Given the description of an element on the screen output the (x, y) to click on. 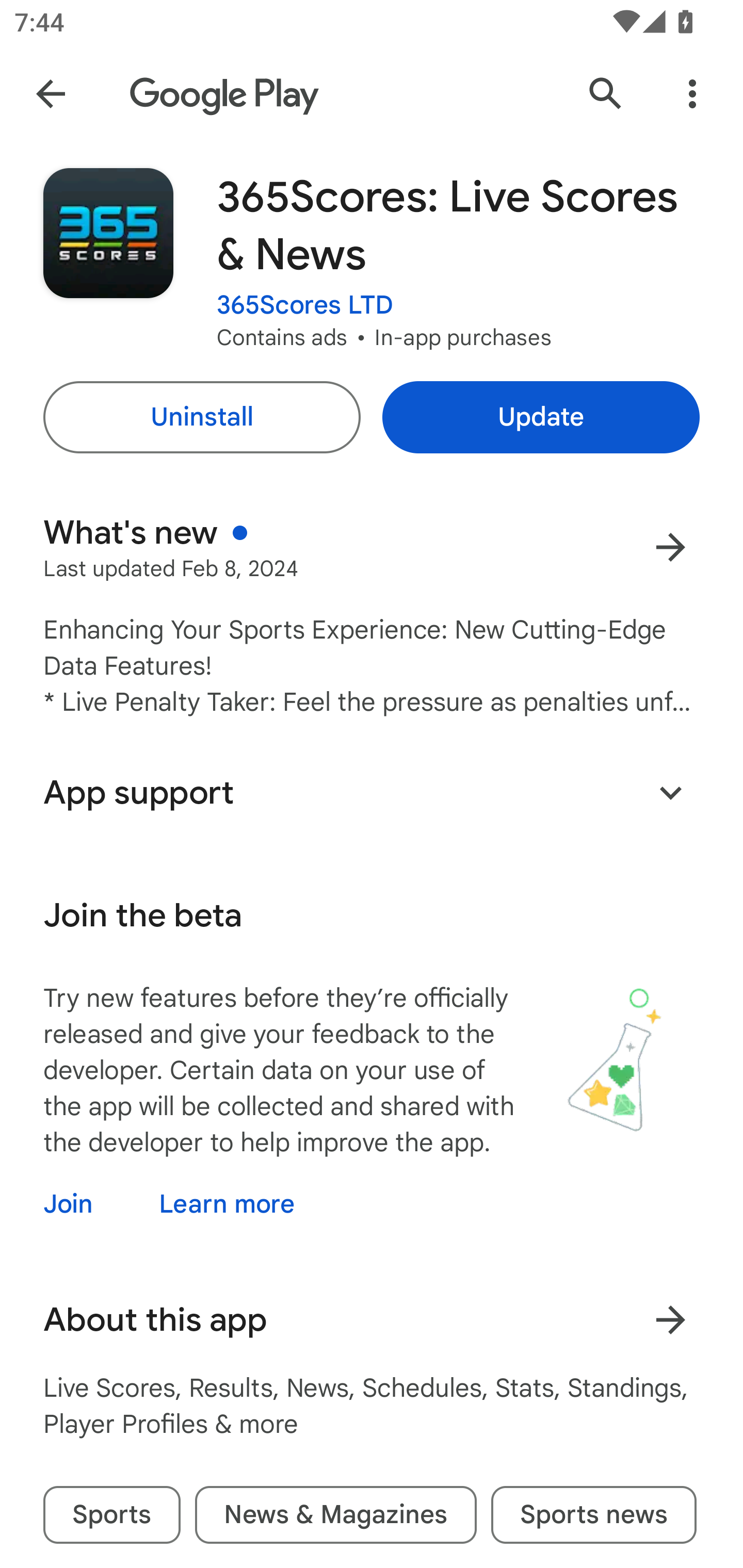
Navigate up (50, 93)
Search Google Play (605, 93)
More Options (692, 93)
365Scores LTD (304, 304)
Uninstall (201, 416)
Update (540, 416)
More results for What's new (670, 547)
App support Expand (371, 792)
Expand (670, 792)
Join (86, 1204)
Learn more (226, 1204)
About this app Learn more About this app (371, 1320)
Learn more About this app (670, 1319)
Sports tag (111, 1514)
News & Magazines tag (335, 1514)
Sports news tag (593, 1514)
